Given the description of an element on the screen output the (x, y) to click on. 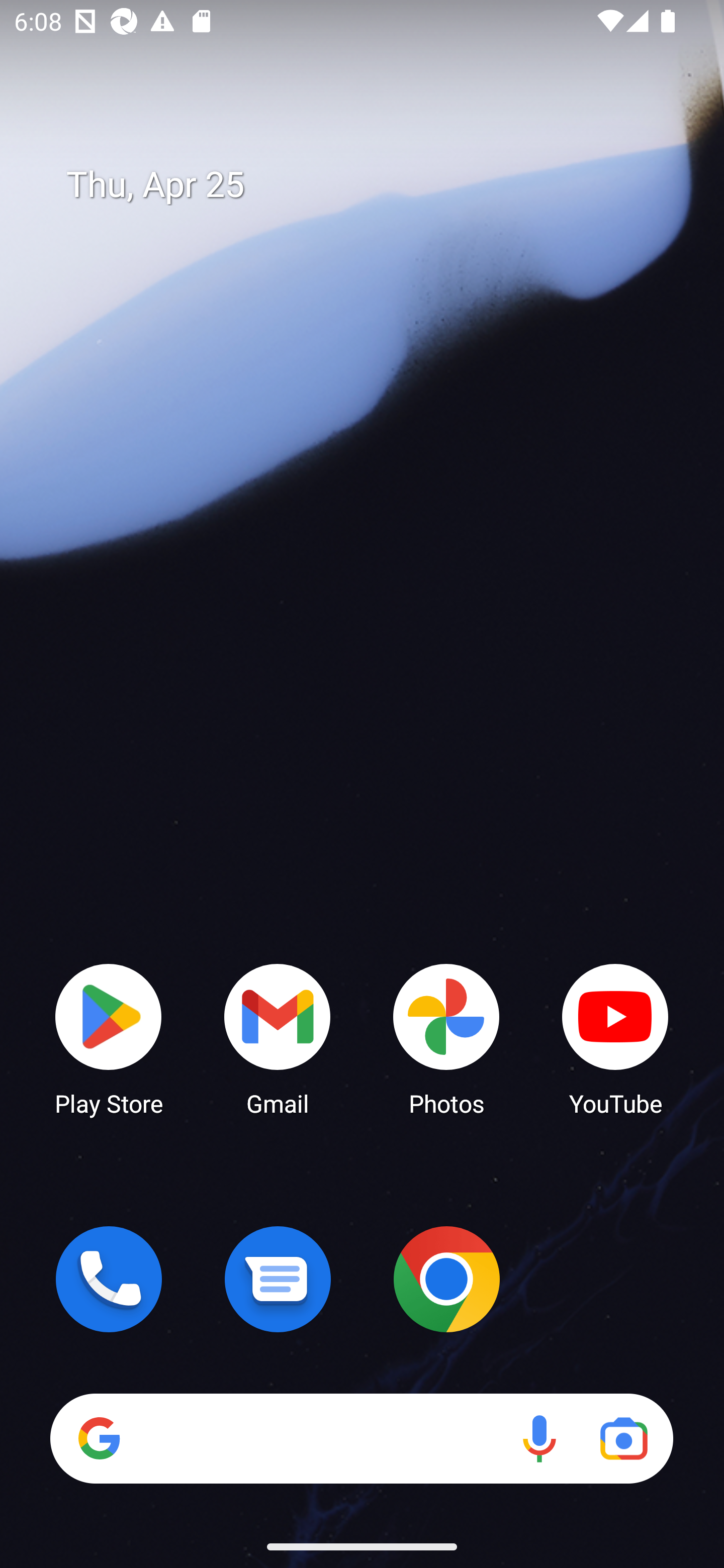
Thu, Apr 25 (375, 184)
Play Store (108, 1038)
Gmail (277, 1038)
Photos (445, 1038)
YouTube (615, 1038)
Phone (108, 1279)
Messages (277, 1279)
Chrome (446, 1279)
Search Voice search Google Lens (361, 1438)
Voice search (539, 1438)
Google Lens (623, 1438)
